Given the description of an element on the screen output the (x, y) to click on. 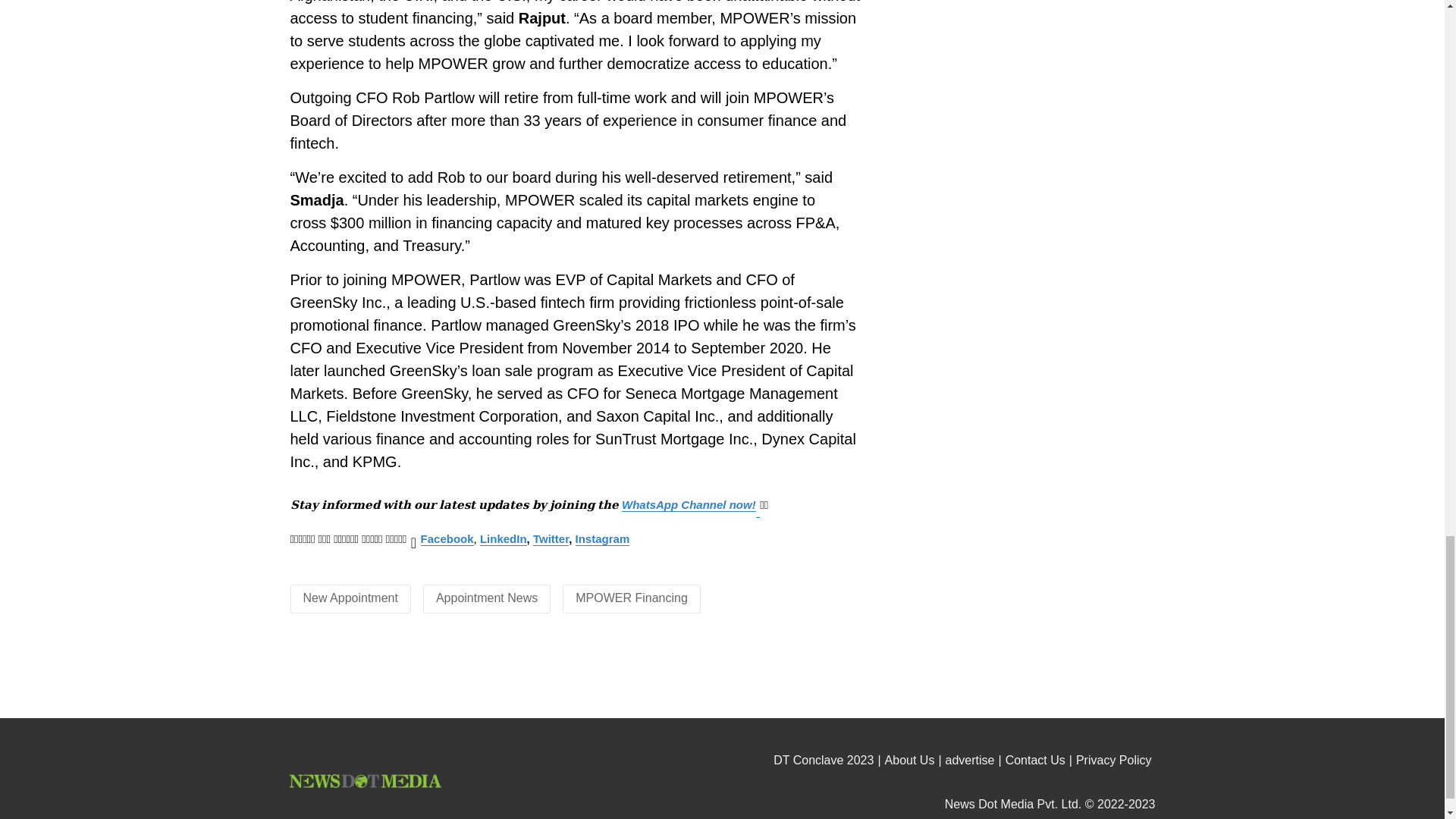
3rd party ad content (1015, 343)
New Appointment (349, 597)
3rd party ad content (1015, 94)
WhatsApp Channel now! (688, 504)
LinkedIn (503, 539)
Appointment News (486, 597)
Facebook (447, 539)
Instagram (602, 539)
Twitter (550, 539)
3rd party ad content (722, 677)
